Given the description of an element on the screen output the (x, y) to click on. 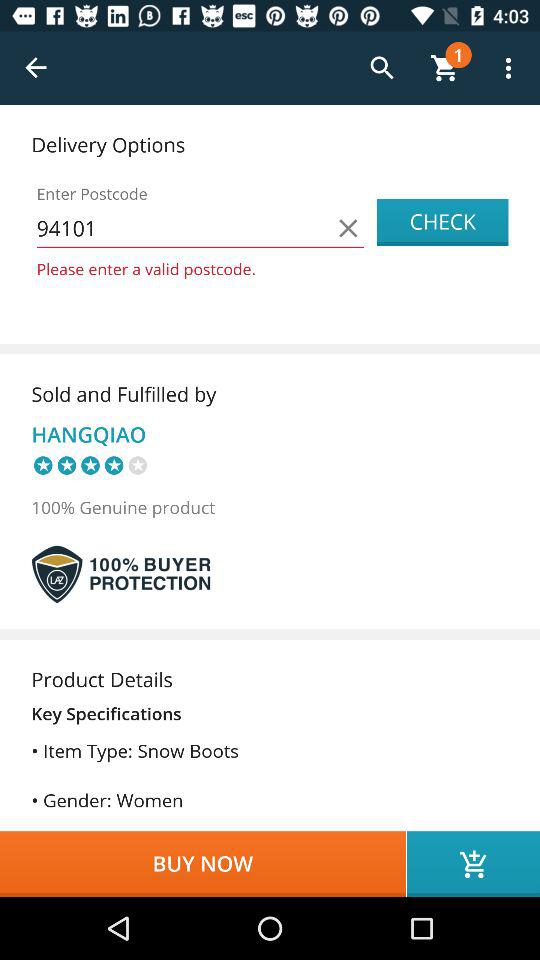
click arrow button (36, 68)
